Given the description of an element on the screen output the (x, y) to click on. 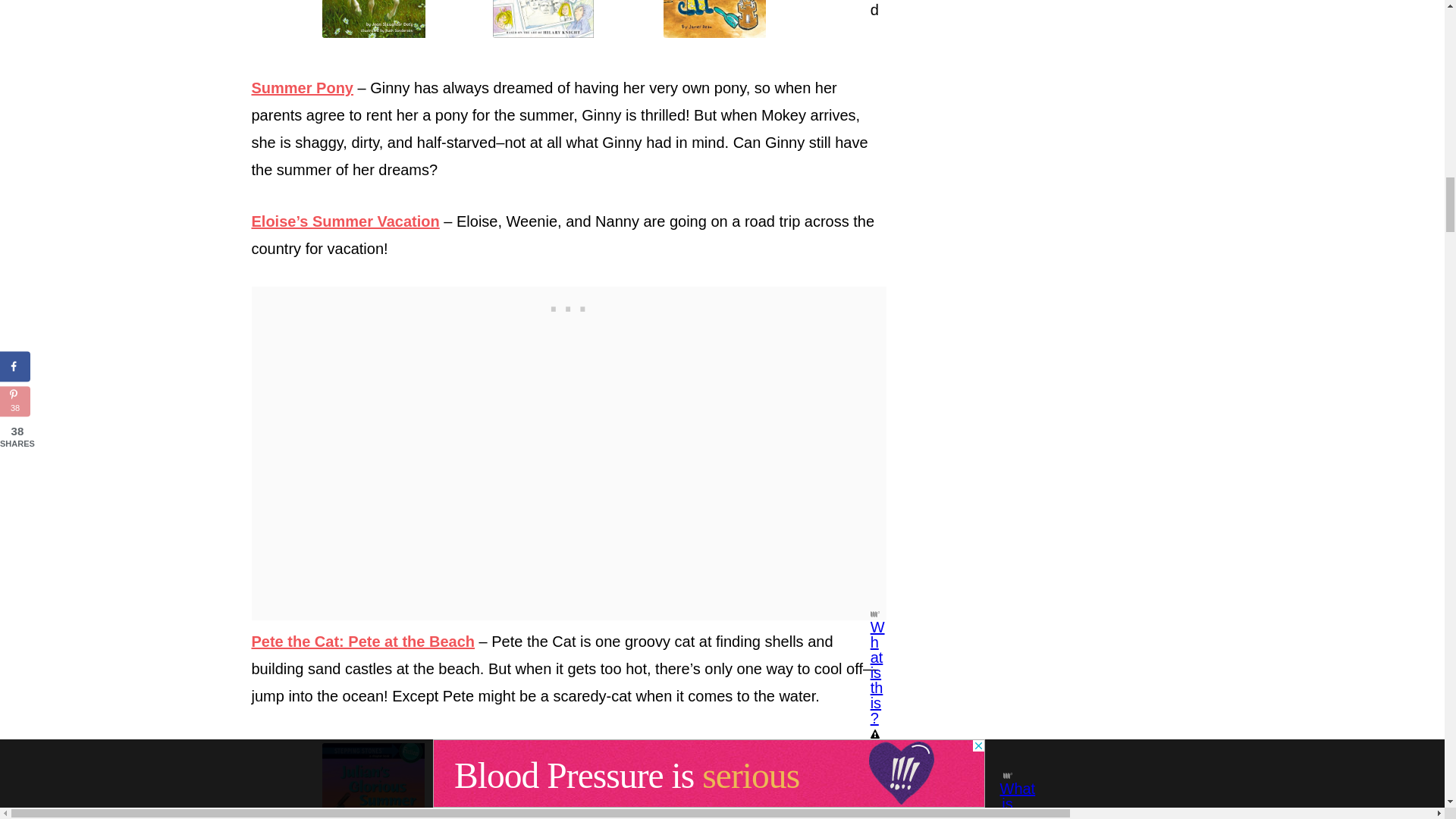
Eloise's Summer Vacation (569, 20)
3rd party ad content (568, 305)
Pinky and Rex Go to Camp (739, 780)
Summer Pony (302, 87)
